Given the description of an element on the screen output the (x, y) to click on. 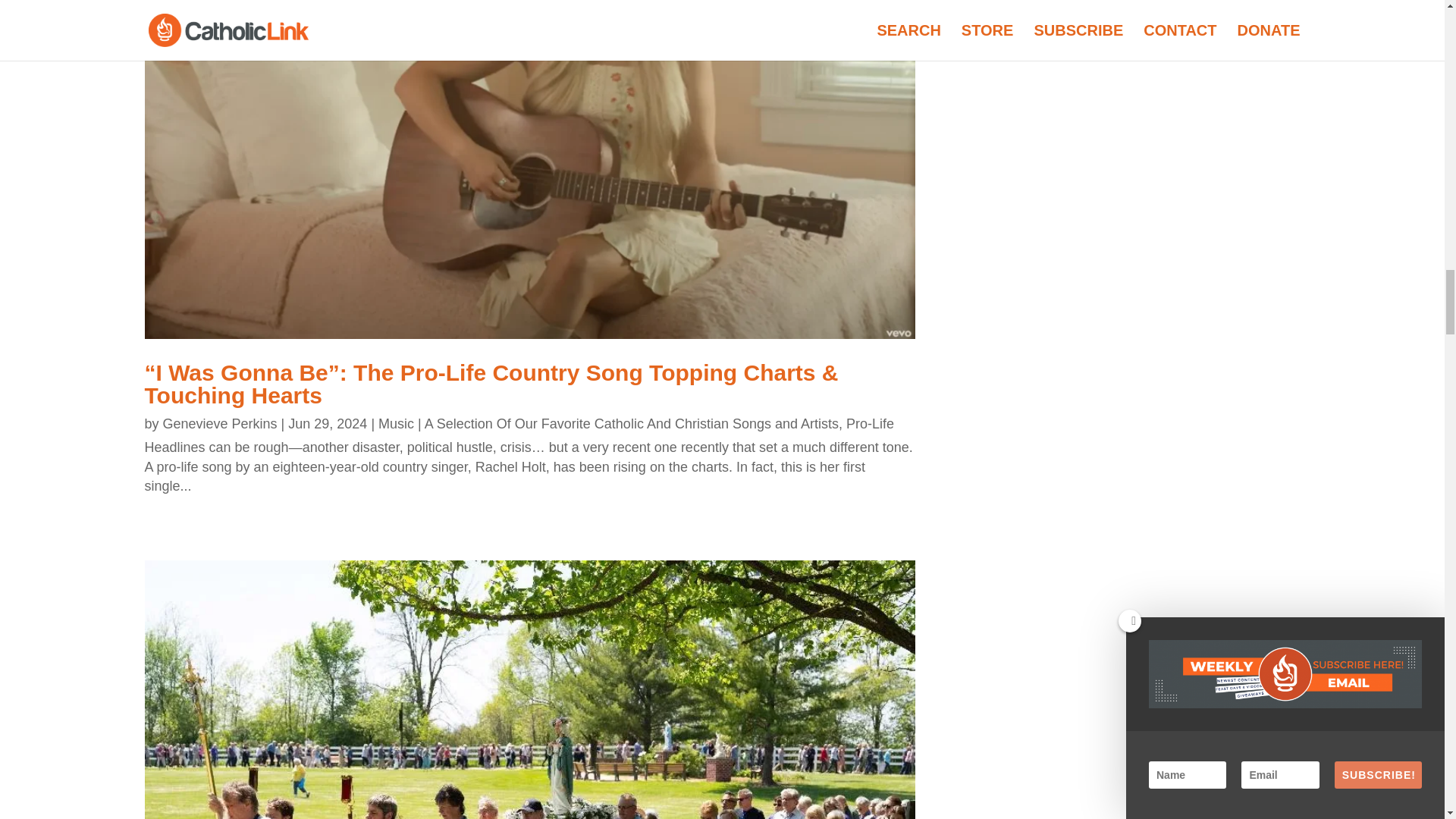
Pro-Life (869, 423)
Genevieve Perkins (220, 423)
Posts by Genevieve Perkins (220, 423)
